Given the description of an element on the screen output the (x, y) to click on. 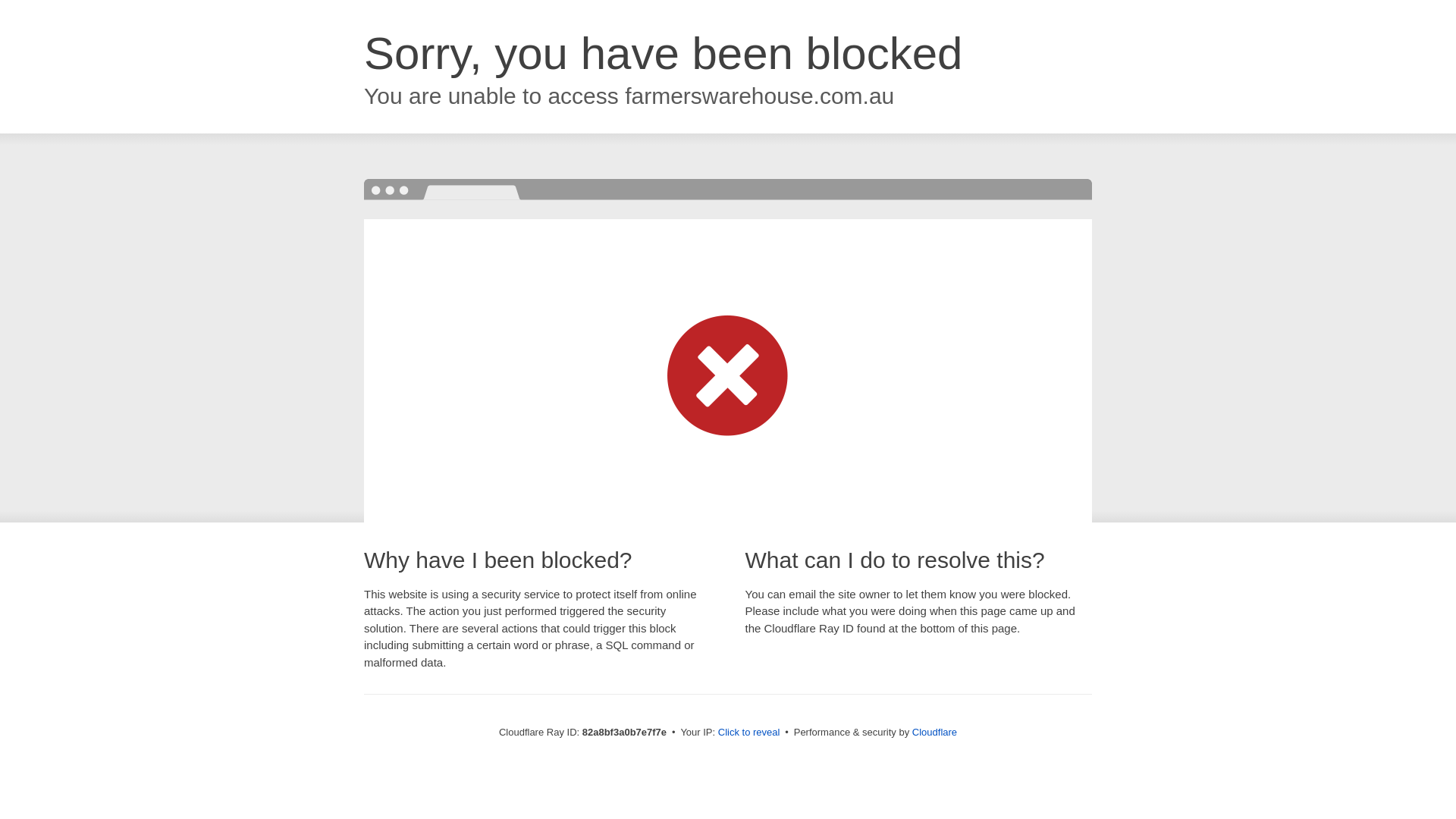
Cloudflare Element type: text (934, 731)
Click to reveal Element type: text (749, 732)
